Given the description of an element on the screen output the (x, y) to click on. 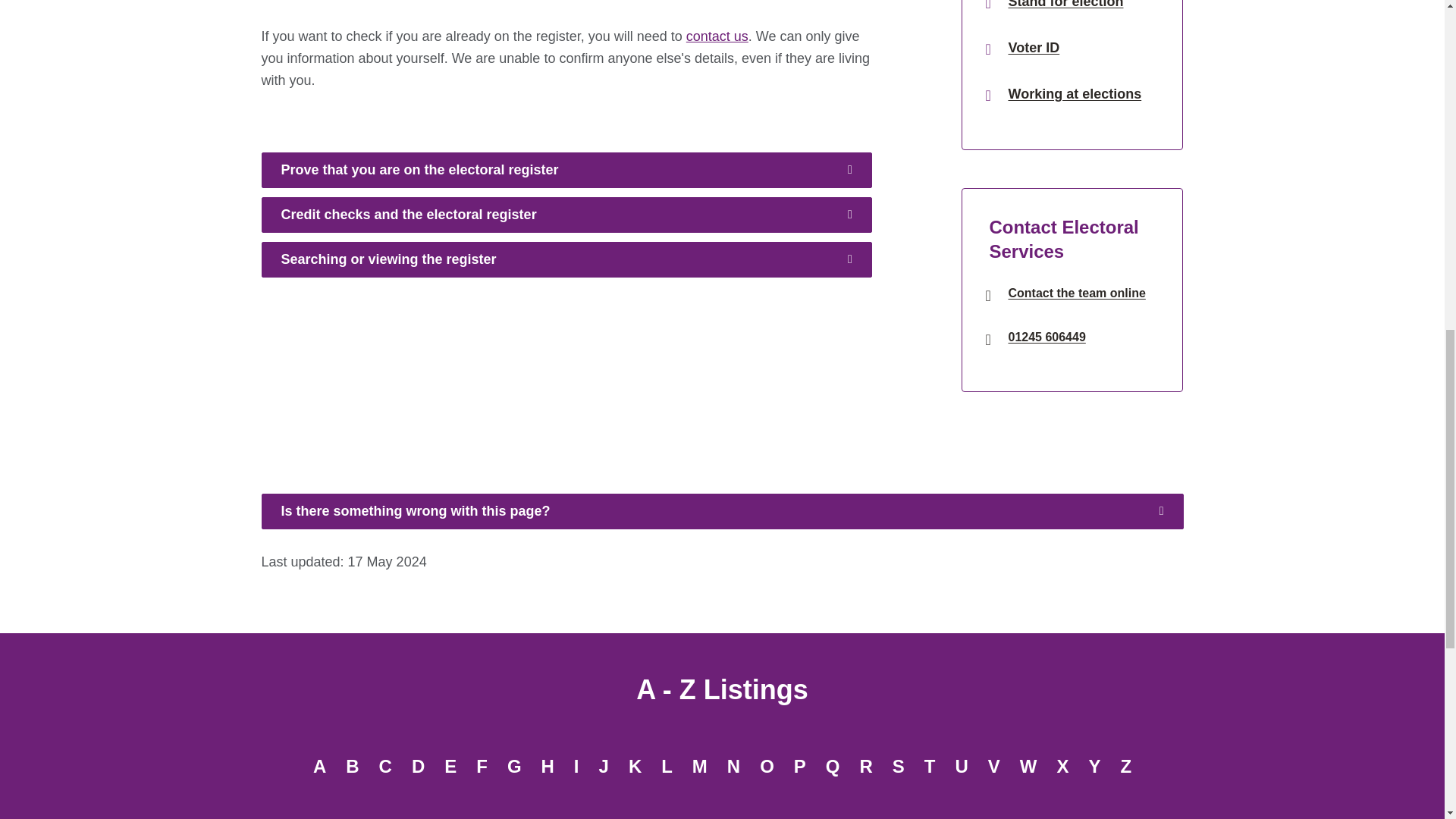
B (352, 767)
K (634, 767)
A (319, 767)
E (449, 767)
Contact the team online (1075, 293)
H (547, 767)
Credit checks and the electoral register (565, 214)
G (514, 767)
E (449, 767)
D (417, 767)
